Given the description of an element on the screen output the (x, y) to click on. 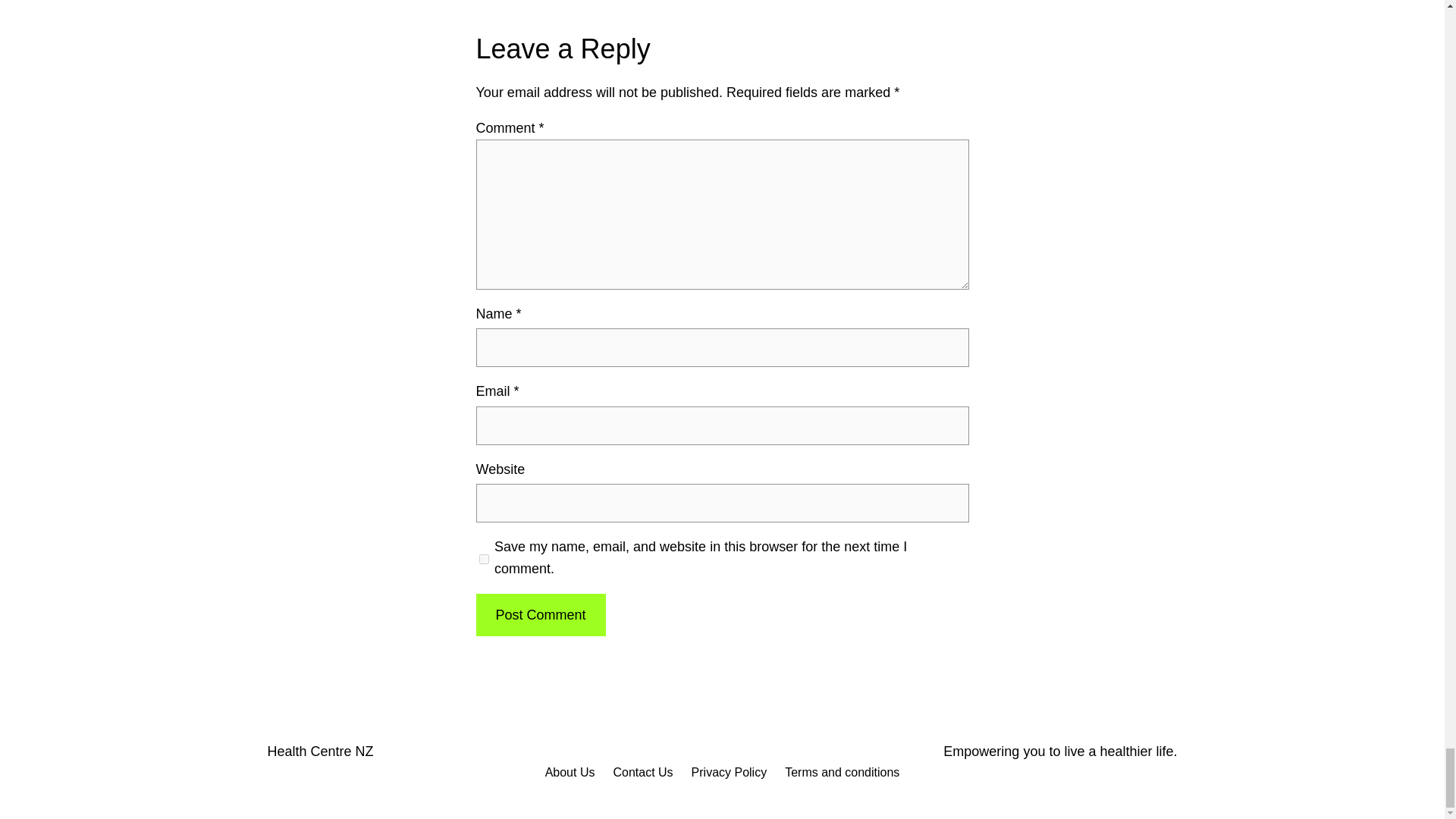
Privacy Policy (729, 772)
Post Comment (540, 615)
Contact Us (642, 772)
Post Comment (540, 615)
Terms and conditions (841, 772)
About Us (569, 772)
Health Centre NZ (319, 751)
